Given the description of an element on the screen output the (x, y) to click on. 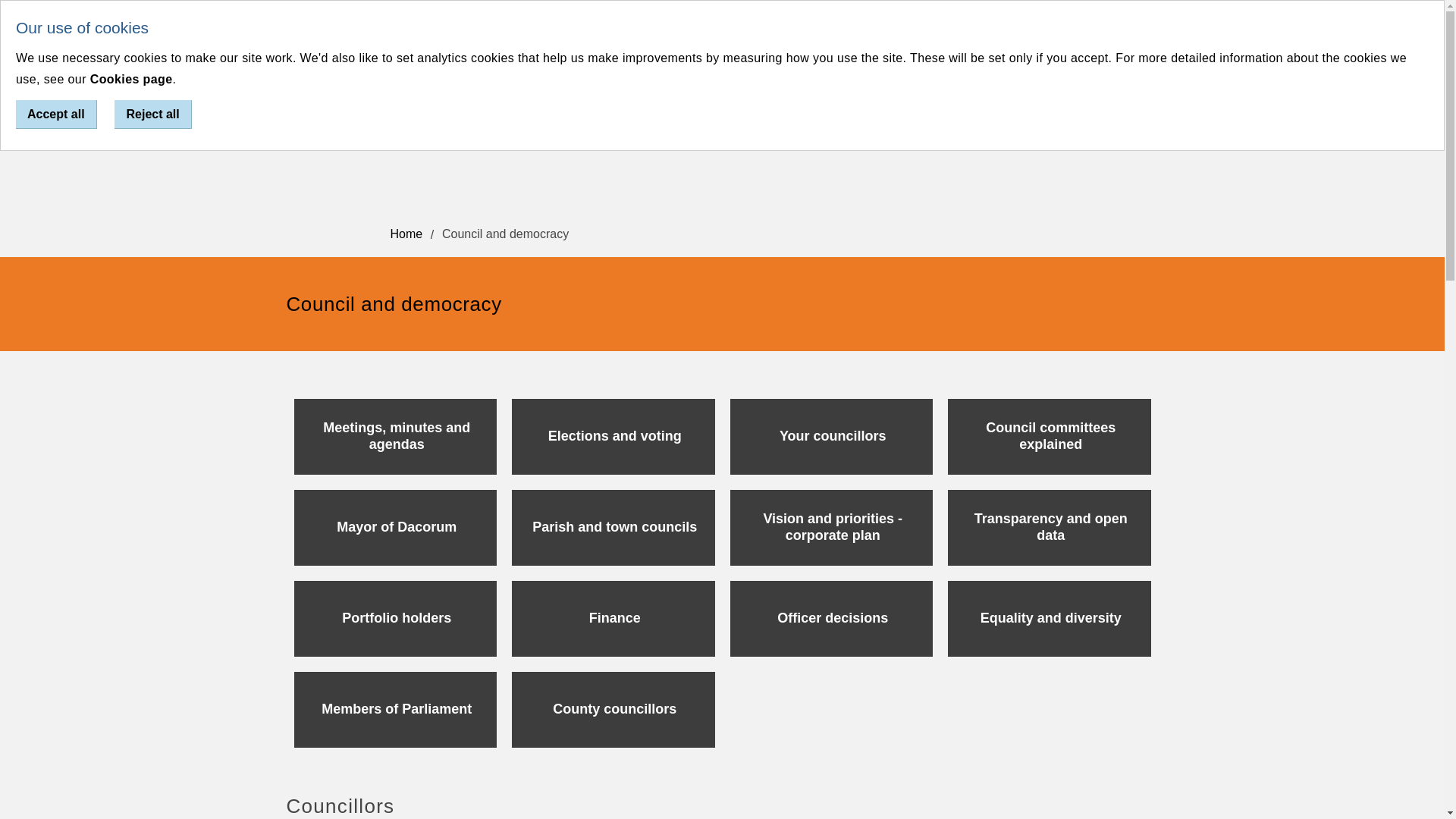
Mayor of Dacorum (395, 527)
Resident (603, 30)
Council committees explained (1049, 436)
MyDacorum (904, 30)
Home (415, 239)
Your councillors (831, 436)
Mayor of Dacorum (395, 527)
Transparency and open data (1049, 527)
Meetings, minutes and agendas (395, 436)
Parish and town councils (613, 527)
Elections and voting (613, 436)
Search text (1050, 30)
Parish and town councils (613, 527)
Search (1144, 30)
Reject all (152, 113)
